Given the description of an element on the screen output the (x, y) to click on. 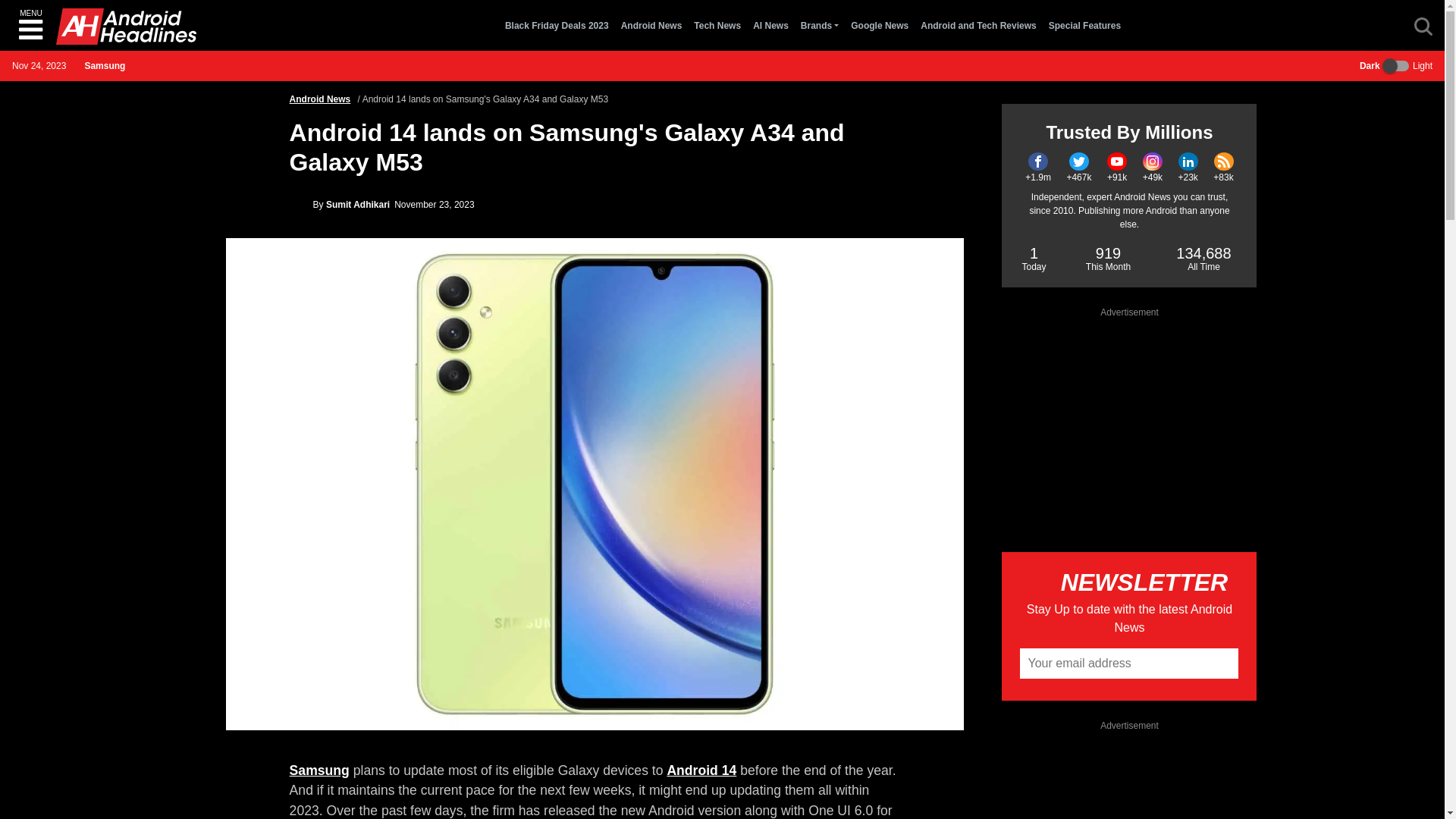
linkedin2 (1187, 161)
facebook (1037, 161)
youtube (1116, 161)
instagram (1151, 161)
search (1422, 26)
rss (1223, 161)
twitter (1078, 161)
